Given the description of an element on the screen output the (x, y) to click on. 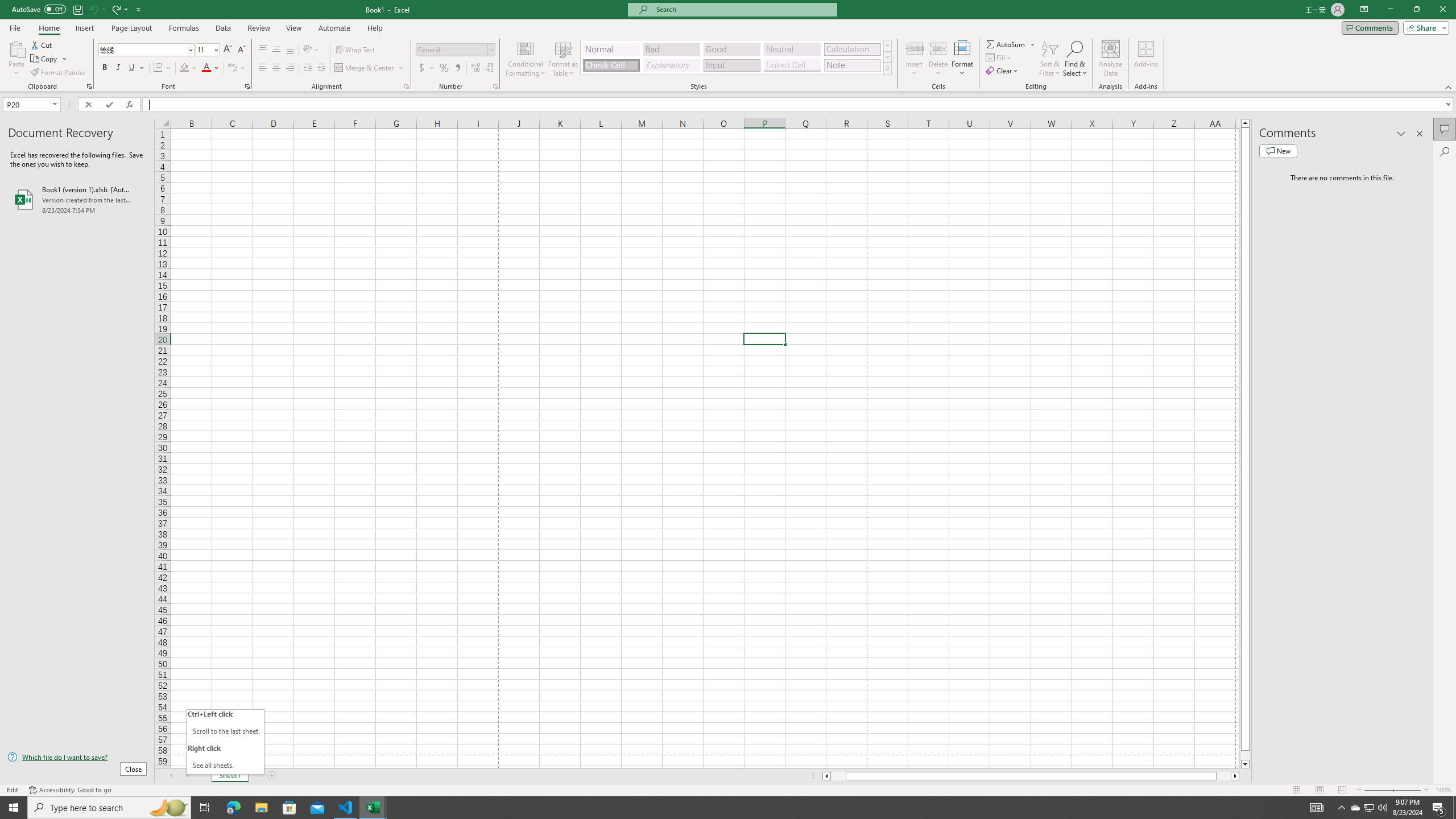
Calculation (852, 49)
Cut (42, 44)
